Given the description of an element on the screen output the (x, y) to click on. 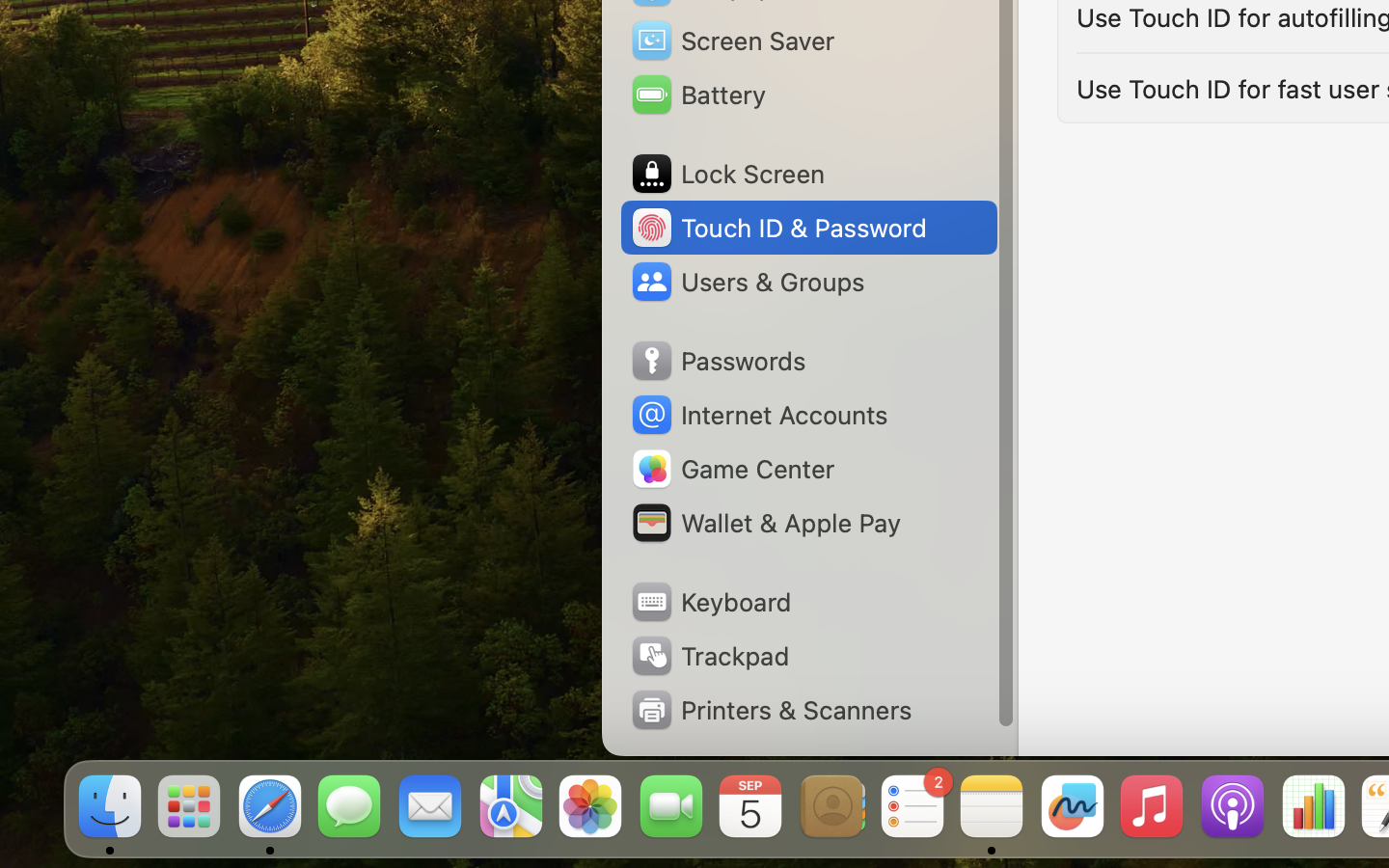
Game Center Element type: AXStaticText (731, 468)
Printers & Scanners Element type: AXStaticText (770, 709)
